Given the description of an element on the screen output the (x, y) to click on. 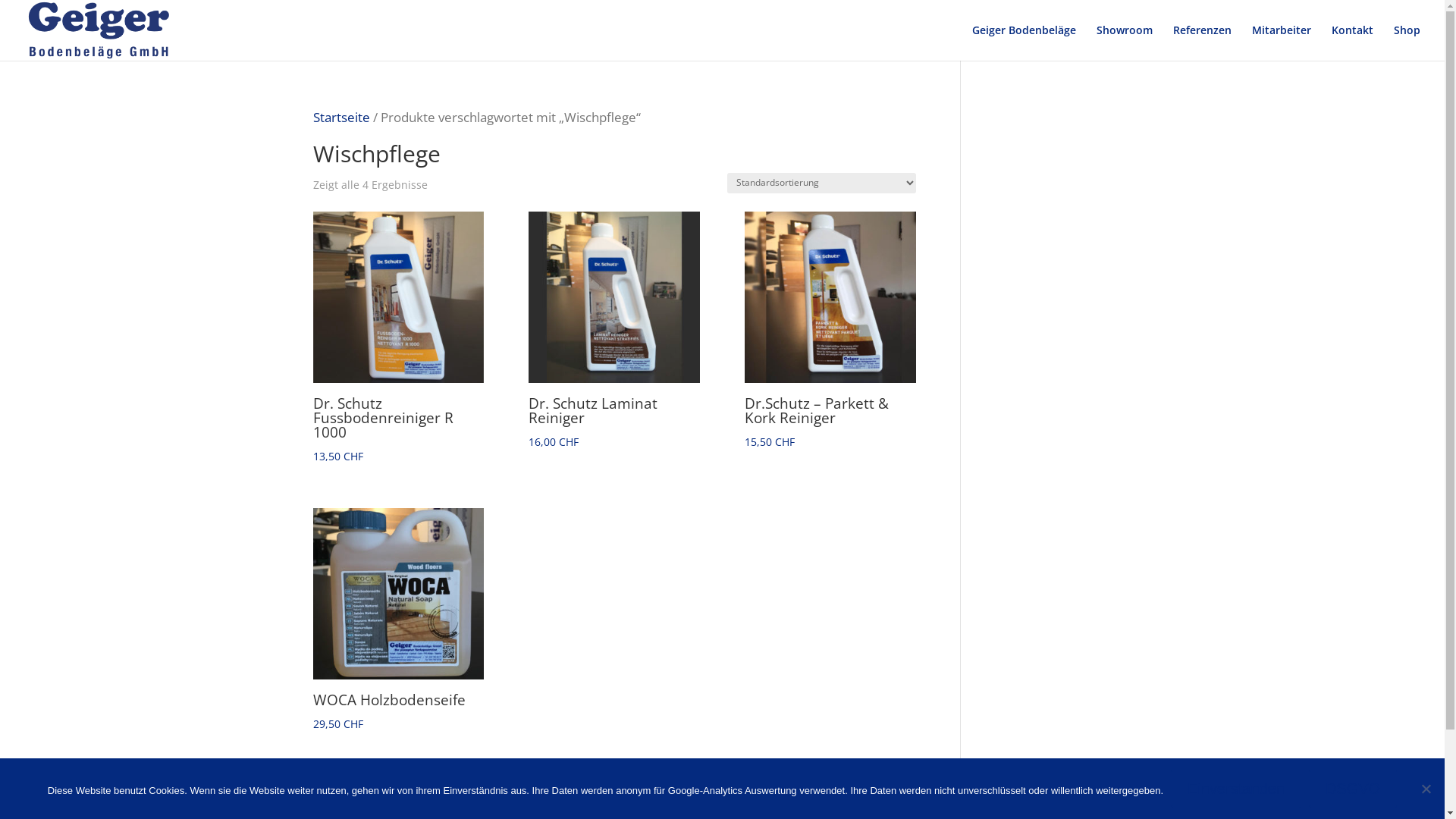
Dr. Schutz Fussbodenreiniger R 1000
13,50 CHF Element type: text (397, 337)
Showroom Element type: text (1124, 42)
DSGVO Element type: text (1352, 788)
Kontakt Element type: text (1352, 42)
Startseite Element type: text (340, 116)
Shop Element type: text (1406, 42)
WOCA Holzbodenseife
29,50 CHF Element type: text (397, 620)
Einverstanden Element type: text (1235, 788)
Mitarbeiter Element type: text (1281, 42)
Dr. Schutz Laminat Reiniger
16,00 CHF Element type: text (613, 330)
Referenzen Element type: text (1202, 42)
Nein Element type: hover (1425, 788)
